Given the description of an element on the screen output the (x, y) to click on. 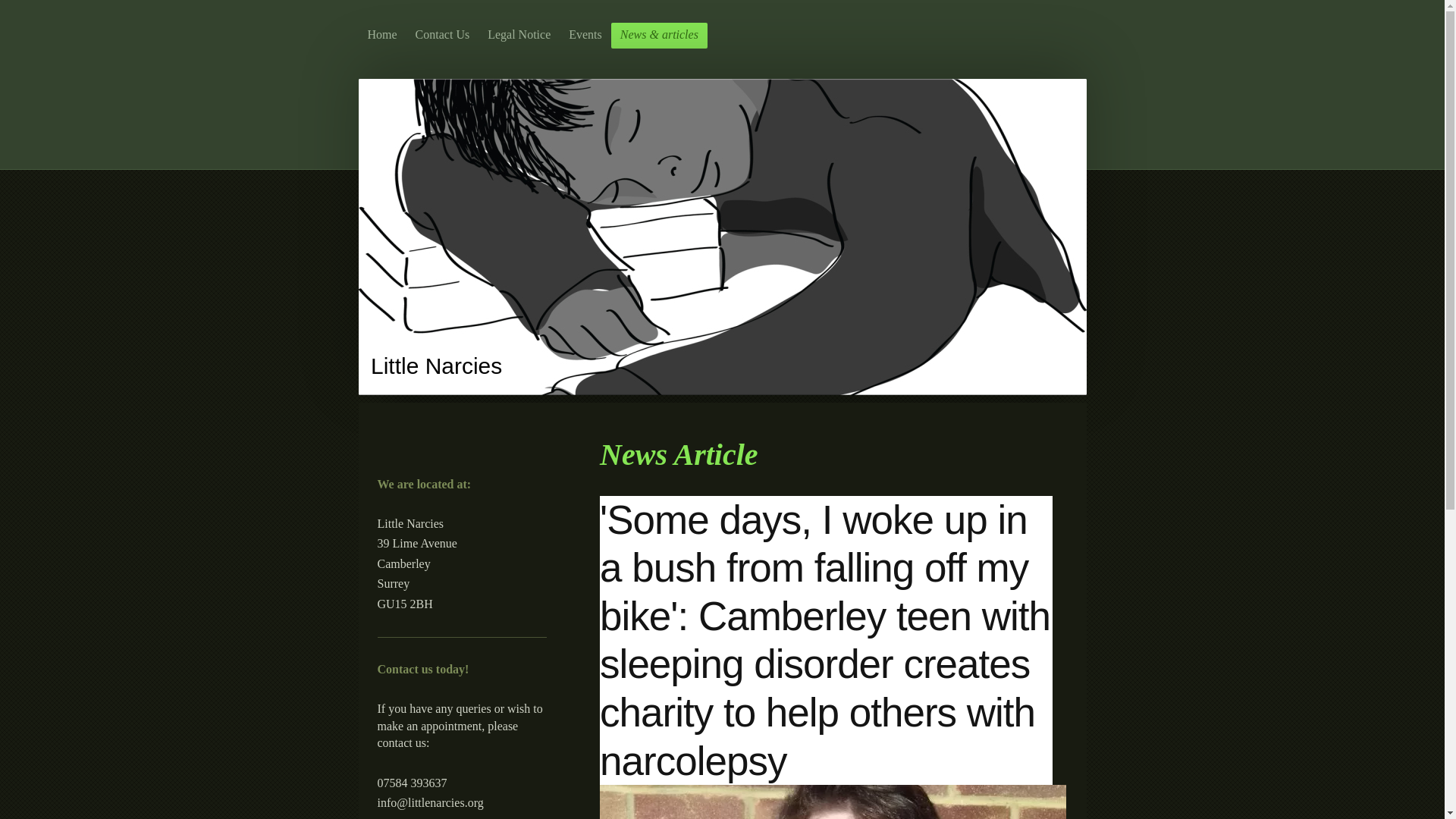
Little Narcies (436, 366)
Legal Notice (519, 35)
Home (382, 35)
Events (585, 35)
Contact Us (442, 35)
